Given the description of an element on the screen output the (x, y) to click on. 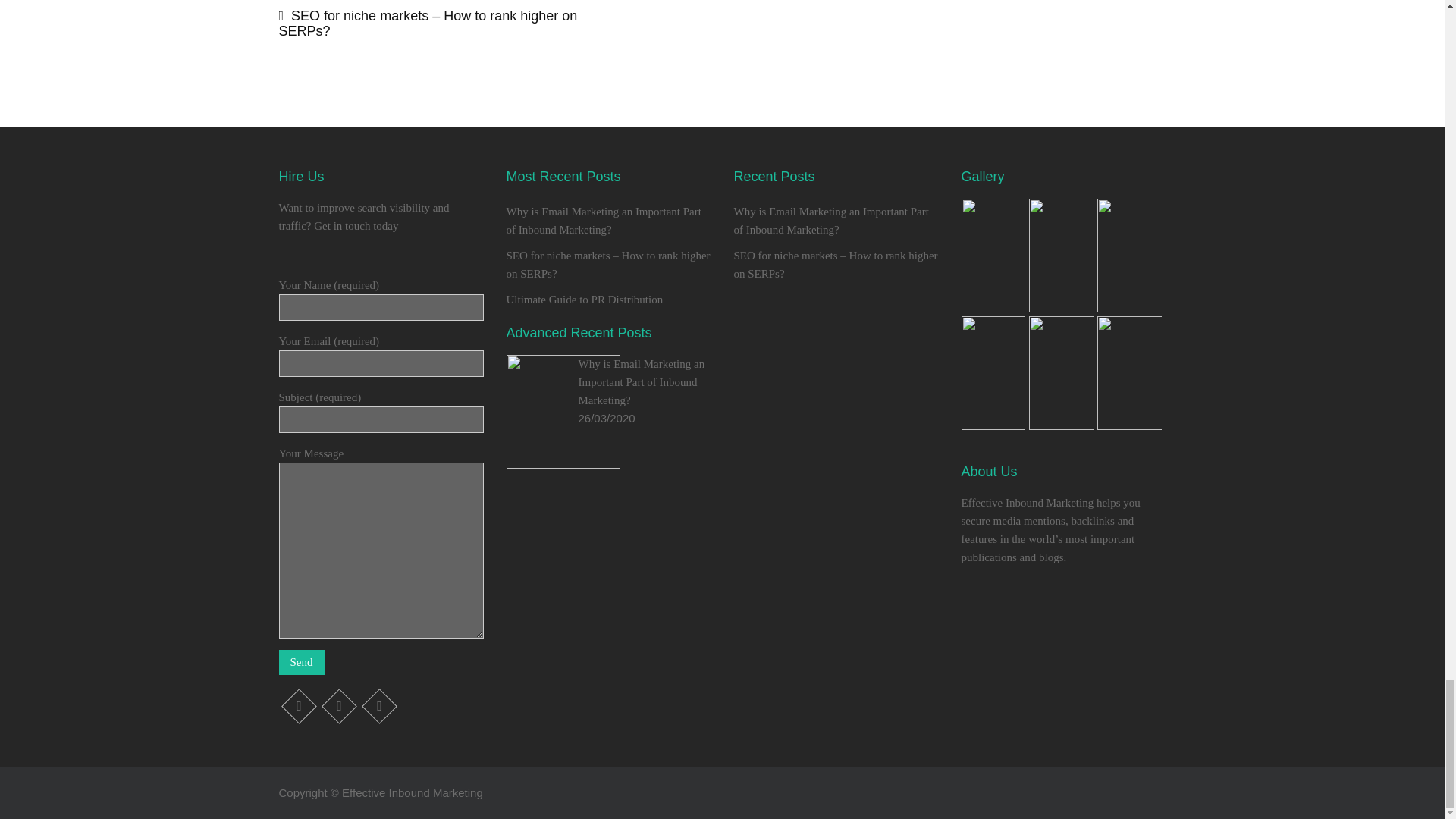
Send (301, 662)
